Given the description of an element on the screen output the (x, y) to click on. 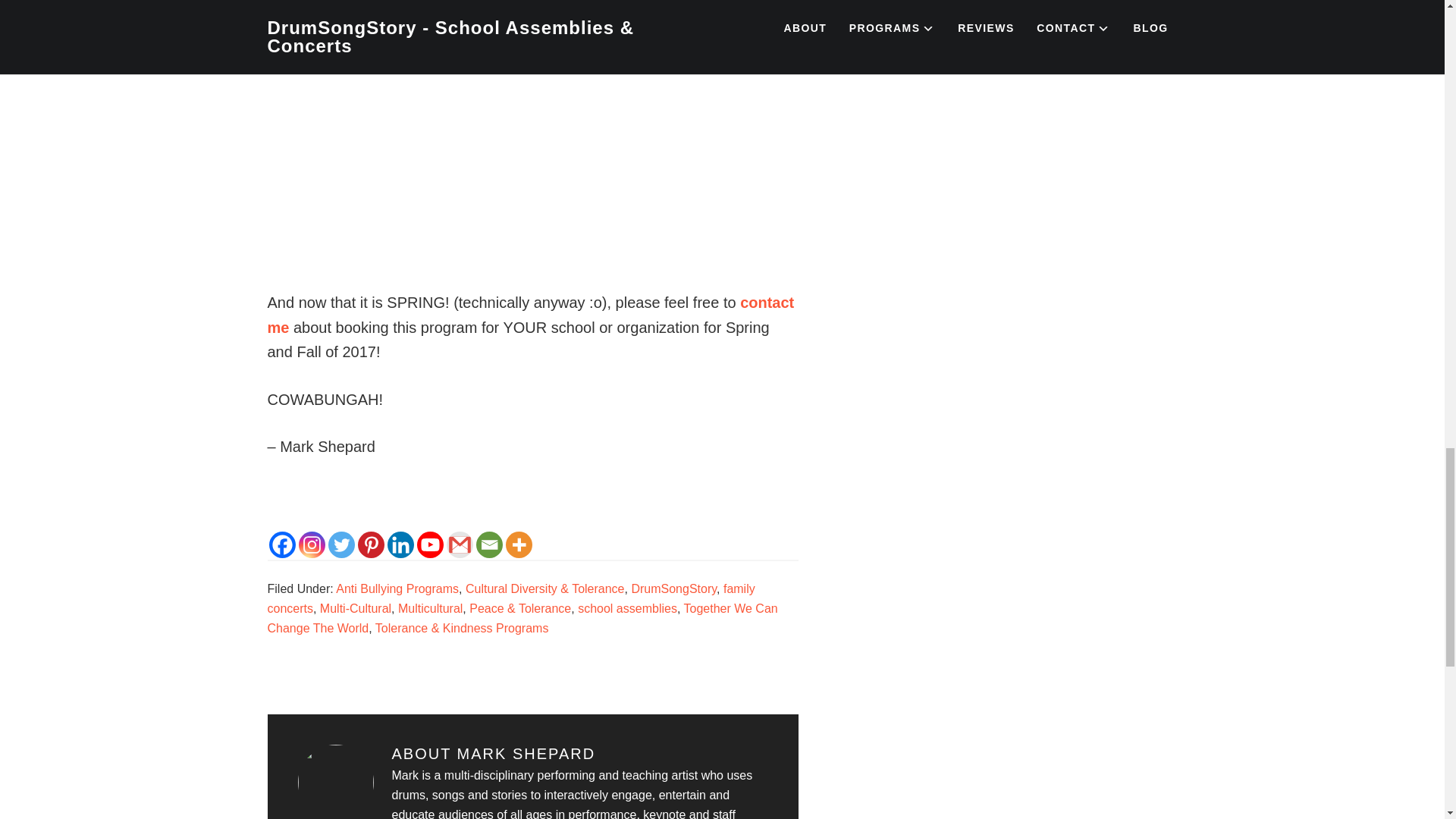
contact me (529, 314)
Instagram (311, 544)
Linkedin (400, 544)
Email (489, 544)
Multicultural (430, 608)
Youtube (430, 544)
More (518, 544)
Pinterest (371, 544)
family concerts (510, 598)
Multi-Cultural (355, 608)
Google Gmail (458, 544)
Anti Bullying Programs (397, 588)
Facebook (281, 544)
DrumSongStory (673, 588)
Twitter (340, 544)
